Given the description of an element on the screen output the (x, y) to click on. 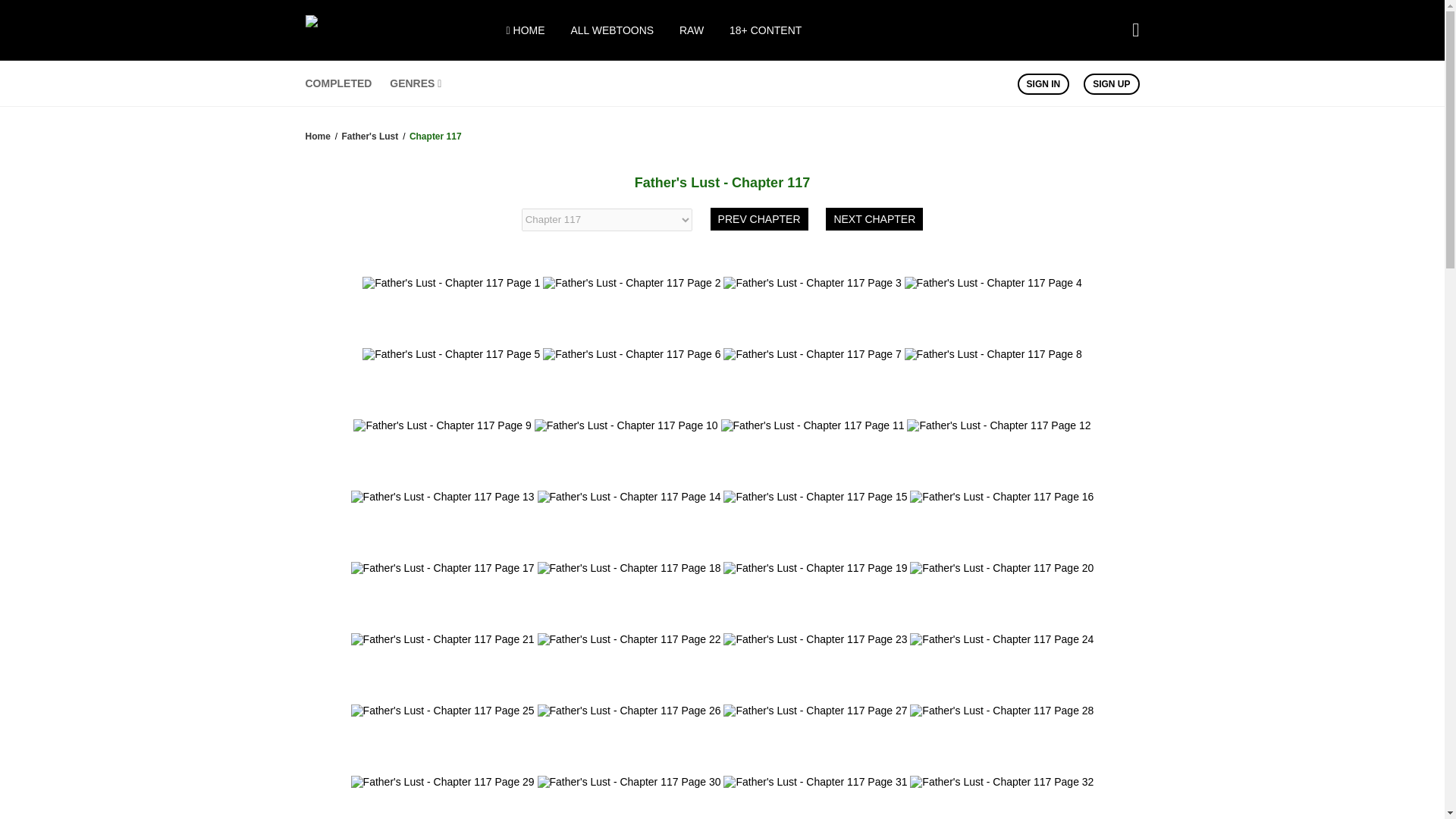
Read Webtoons and Korean Manhwa in English for Free (399, 33)
GENRES (415, 82)
Adult (765, 30)
HOME (525, 30)
Completed Webtoons, Korean Manhwa (337, 82)
COMPLETED (337, 82)
Premium Webtoons Raw, Manhwa Raw (691, 30)
Manga List - Genres: All (415, 82)
ALL WEBTOONS (611, 30)
Browser all Webtoons and Korean Manhwa (611, 30)
